Given the description of an element on the screen output the (x, y) to click on. 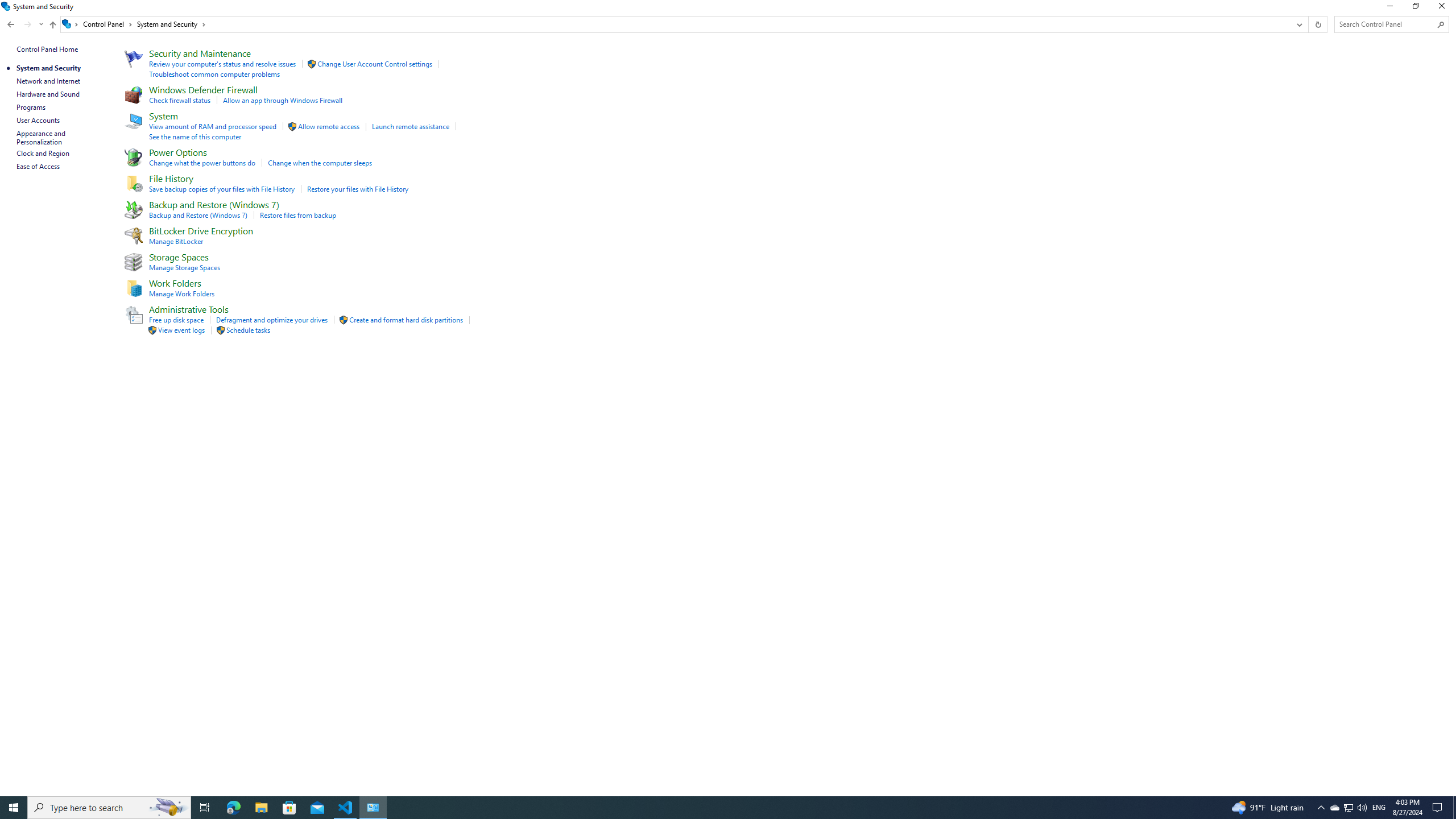
Control Panel (107, 23)
Address: Control Panel\System and Security (675, 23)
BitLocker Drive Encryption (201, 230)
Address band toolbar (1308, 23)
Search Box (1386, 23)
Security and Maintenance (199, 52)
Recent locations (40, 23)
View event logs (181, 329)
Icon (132, 314)
Review your computer's status and resolve issues (222, 63)
Change what the power buttons do (202, 162)
System and Security (171, 23)
System (1347, 807)
Restore (6, 6)
